Given the description of an element on the screen output the (x, y) to click on. 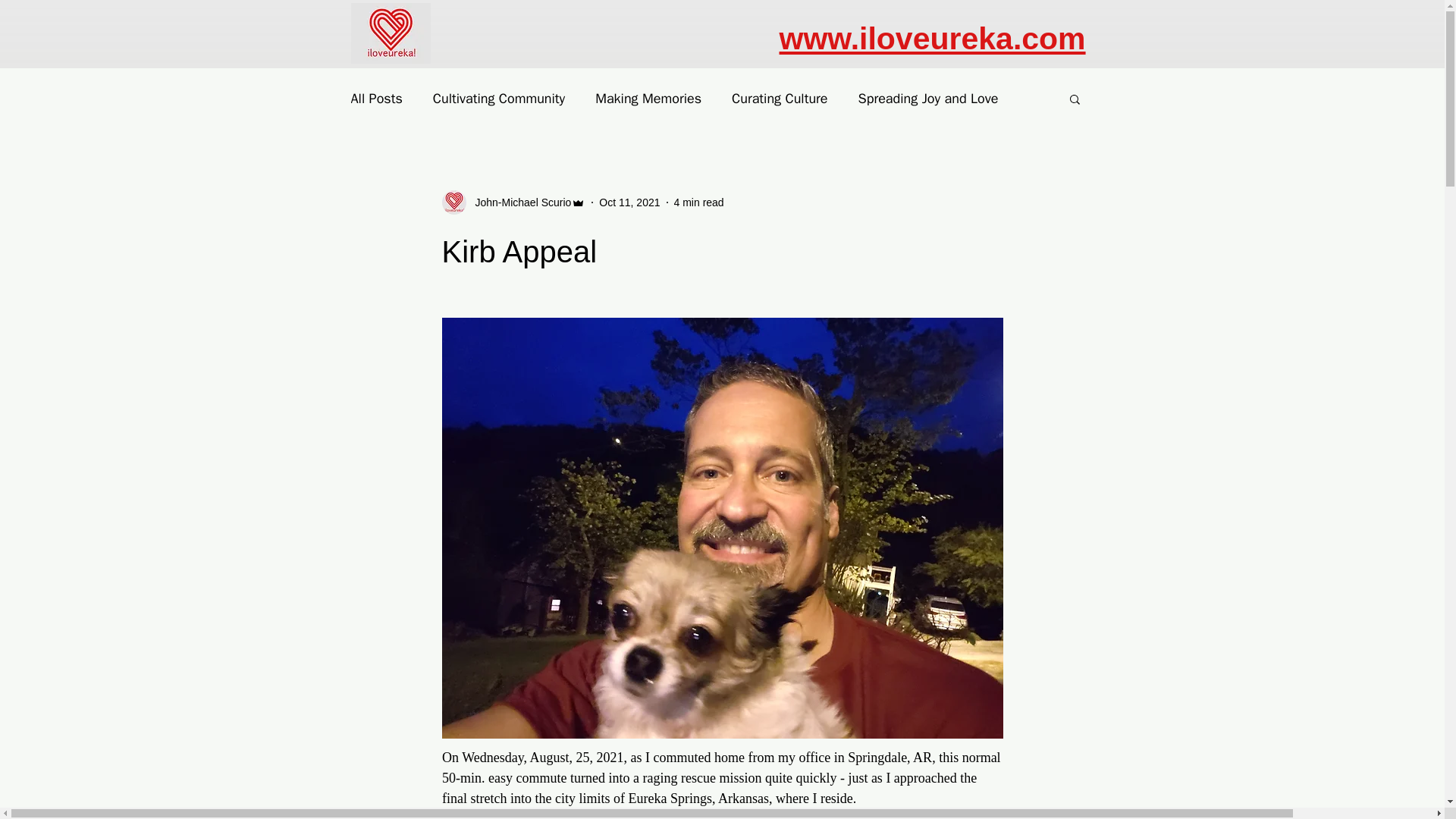
Making Memories (648, 98)
John-Michael Scurio (517, 201)
www.iloveureka.com (932, 38)
4 min read (698, 201)
Curating Culture (780, 98)
Spreading Joy and Love (928, 98)
Oct 11, 2021 (628, 201)
John-Michael Scurio (513, 202)
Cultivating Community (498, 98)
All Posts (375, 98)
